Given the description of an element on the screen output the (x, y) to click on. 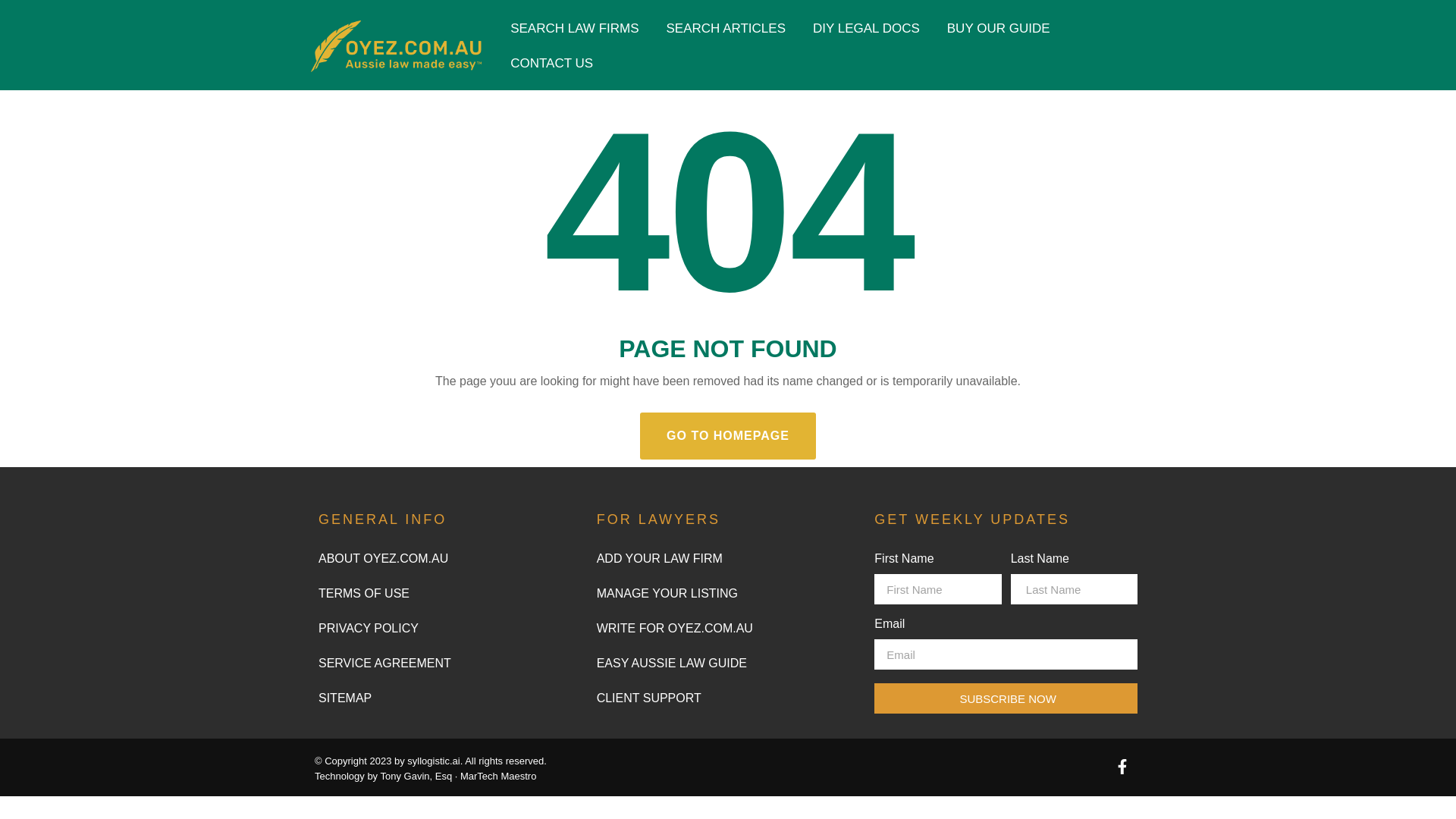
DIY LEGAL DOCS (866, 28)
PRIVACY POLICY (449, 628)
SITEMAP (449, 697)
ABOUT OYEZ.COM.AU (449, 558)
WRITE FOR OYEZ.COM.AU (728, 628)
SEARCH LAW FIRMS (574, 28)
MANAGE YOUR LISTING (728, 593)
SEARCH ARTICLES (725, 28)
BUY OUR GUIDE (998, 28)
CONTACT US (551, 63)
